Given the description of an element on the screen output the (x, y) to click on. 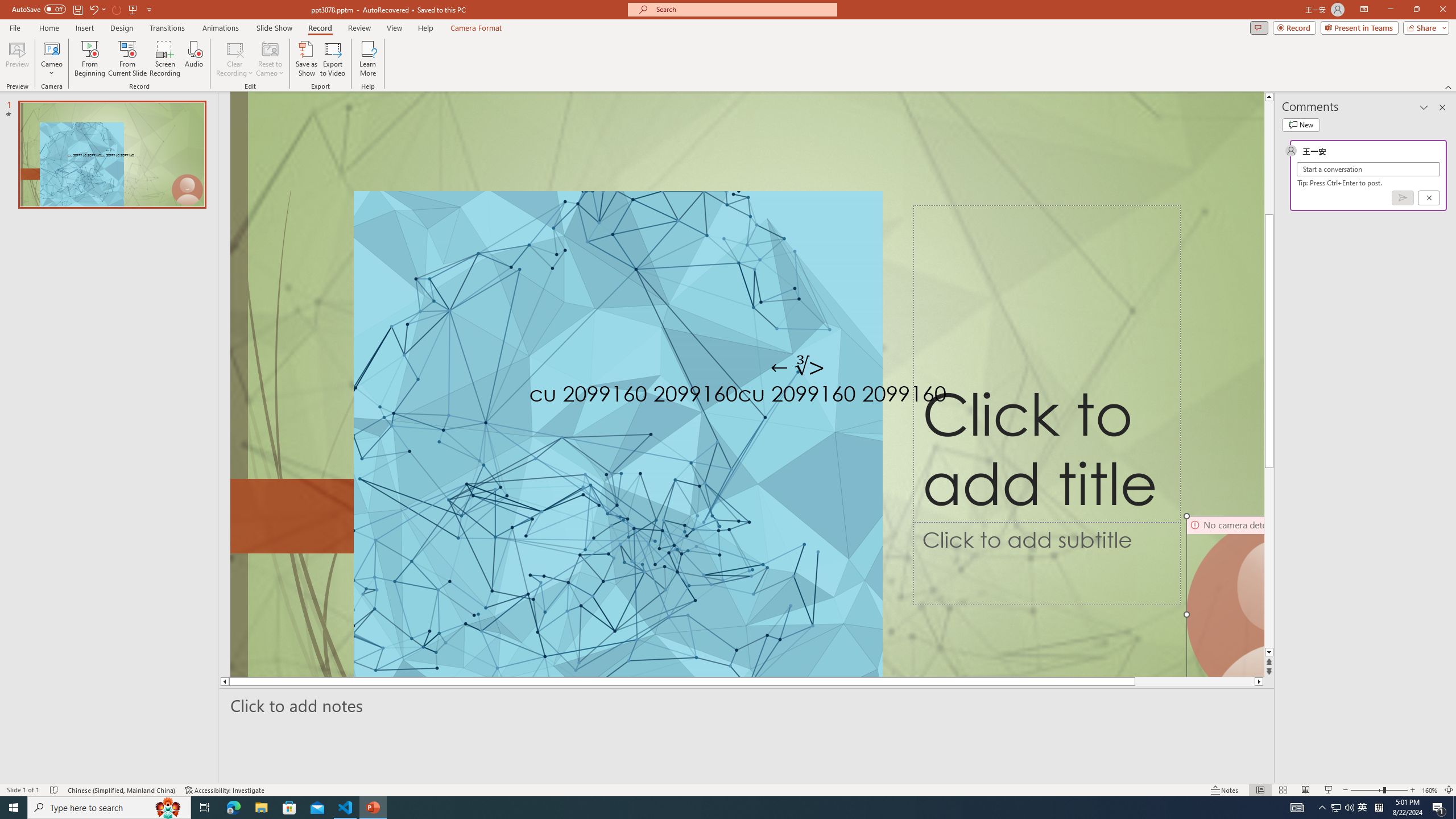
Camera Format (475, 28)
